Given the description of an element on the screen output the (x, y) to click on. 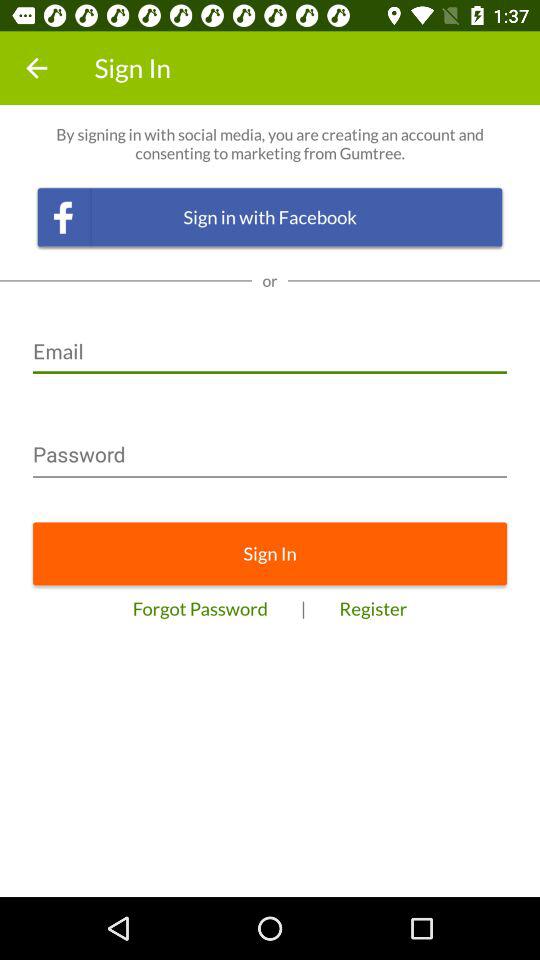
select icon to the left of the | (199, 608)
